Given the description of an element on the screen output the (x, y) to click on. 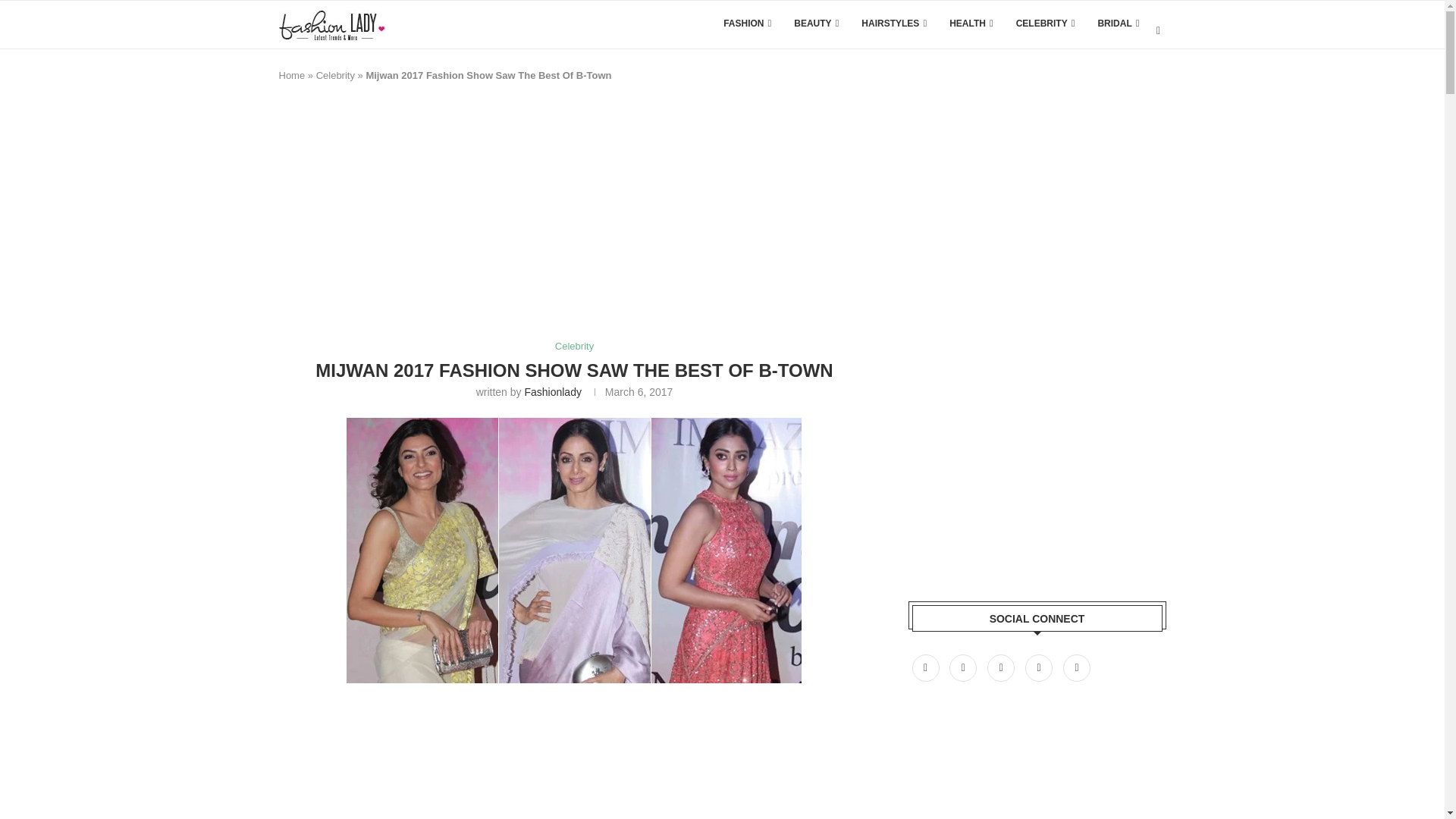
Advertisement (555, 764)
Celebrites at Mijwan 2017 Fashion Show (574, 550)
BEAUTY (815, 22)
Fashionlady (552, 391)
CELEBRITY (1045, 22)
FASHION (747, 22)
BRIDAL (1117, 22)
Celebrity (335, 75)
HEALTH (970, 22)
Advertisement (555, 218)
Home (292, 75)
Celebrity (574, 346)
HAIRSTYLES (893, 22)
